Given the description of an element on the screen output the (x, y) to click on. 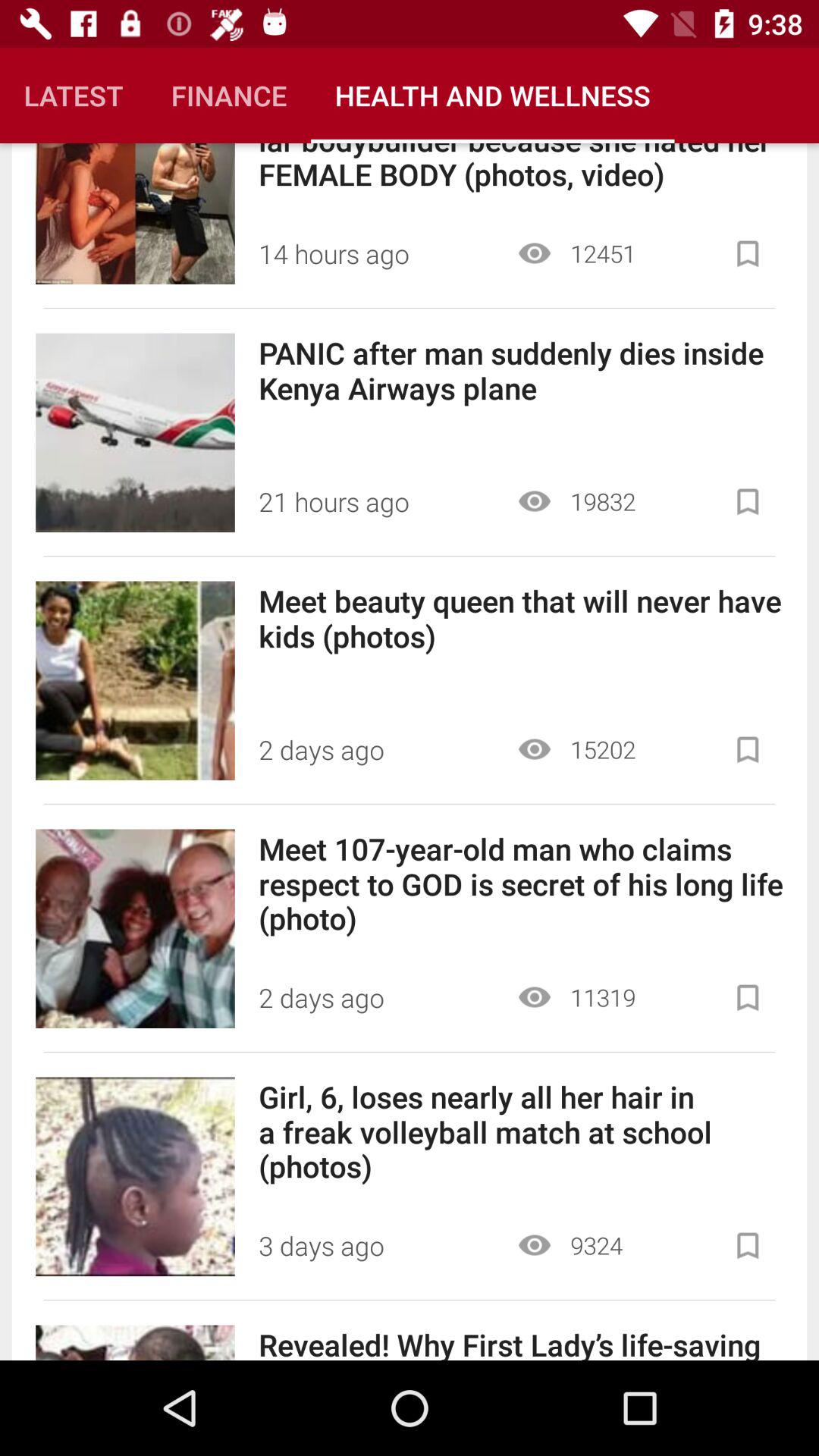
select video as favorite (747, 501)
